Given the description of an element on the screen output the (x, y) to click on. 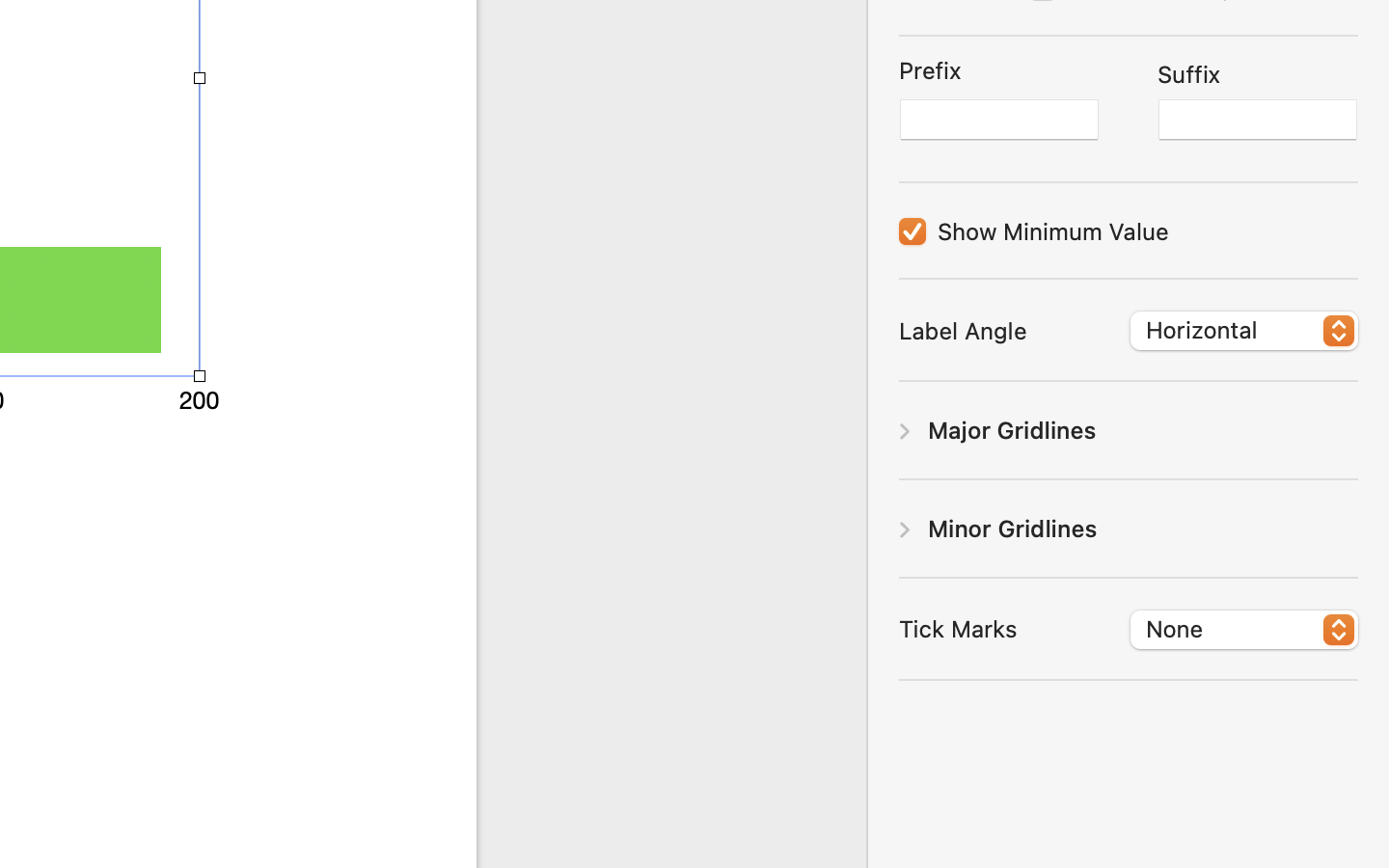
Label Angle Element type: AXStaticText (962, 330)
Tick Marks Element type: AXStaticText (957, 627)
